Given the description of an element on the screen output the (x, y) to click on. 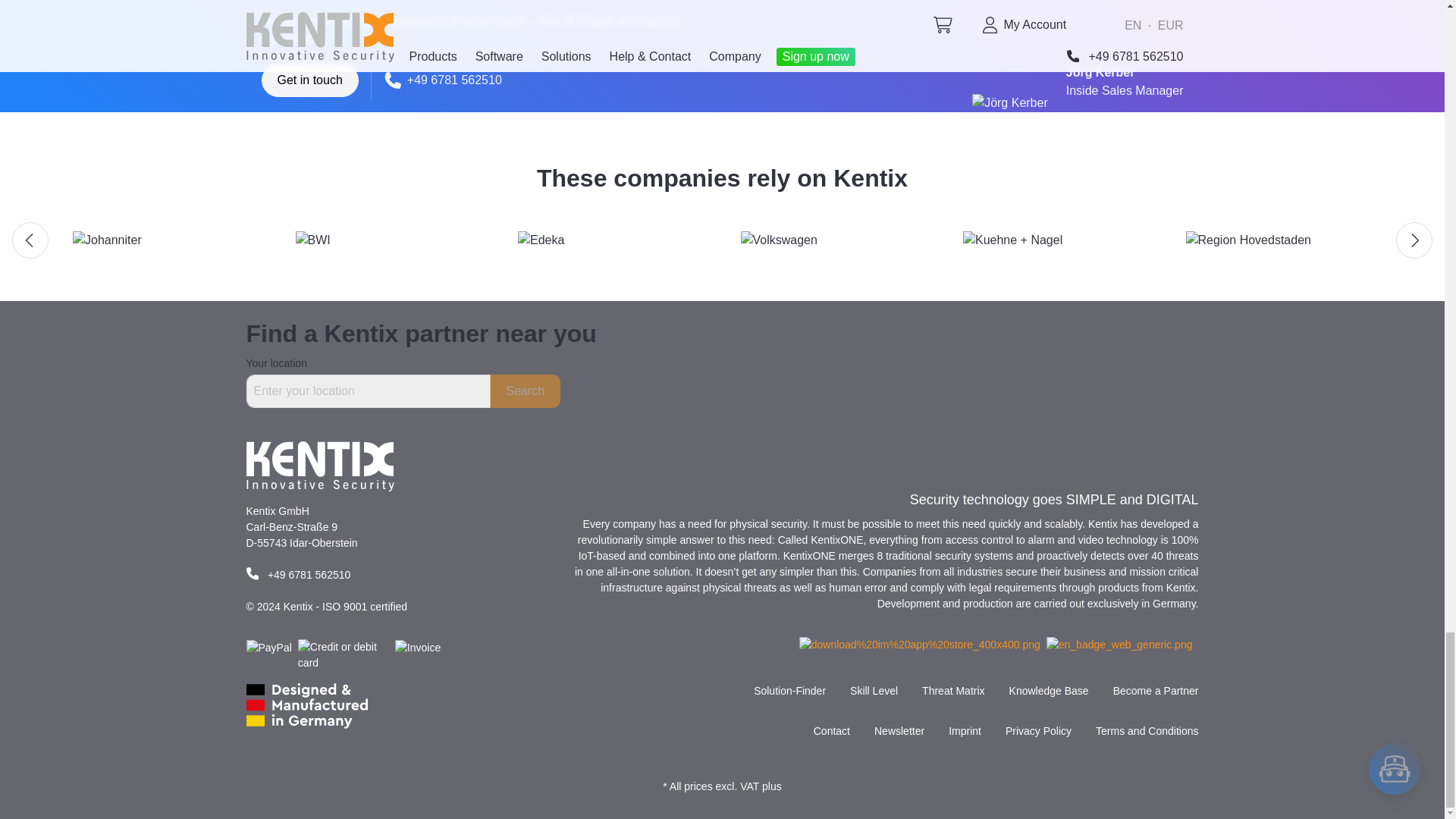
Knowledge Base (1049, 691)
Threat Matrix (952, 691)
Solution-Finder (789, 691)
Invoice (417, 647)
PayPal (268, 647)
Credit or debit card (343, 654)
Skill Level (874, 691)
Become a Partner (1155, 691)
